Given the description of an element on the screen output the (x, y) to click on. 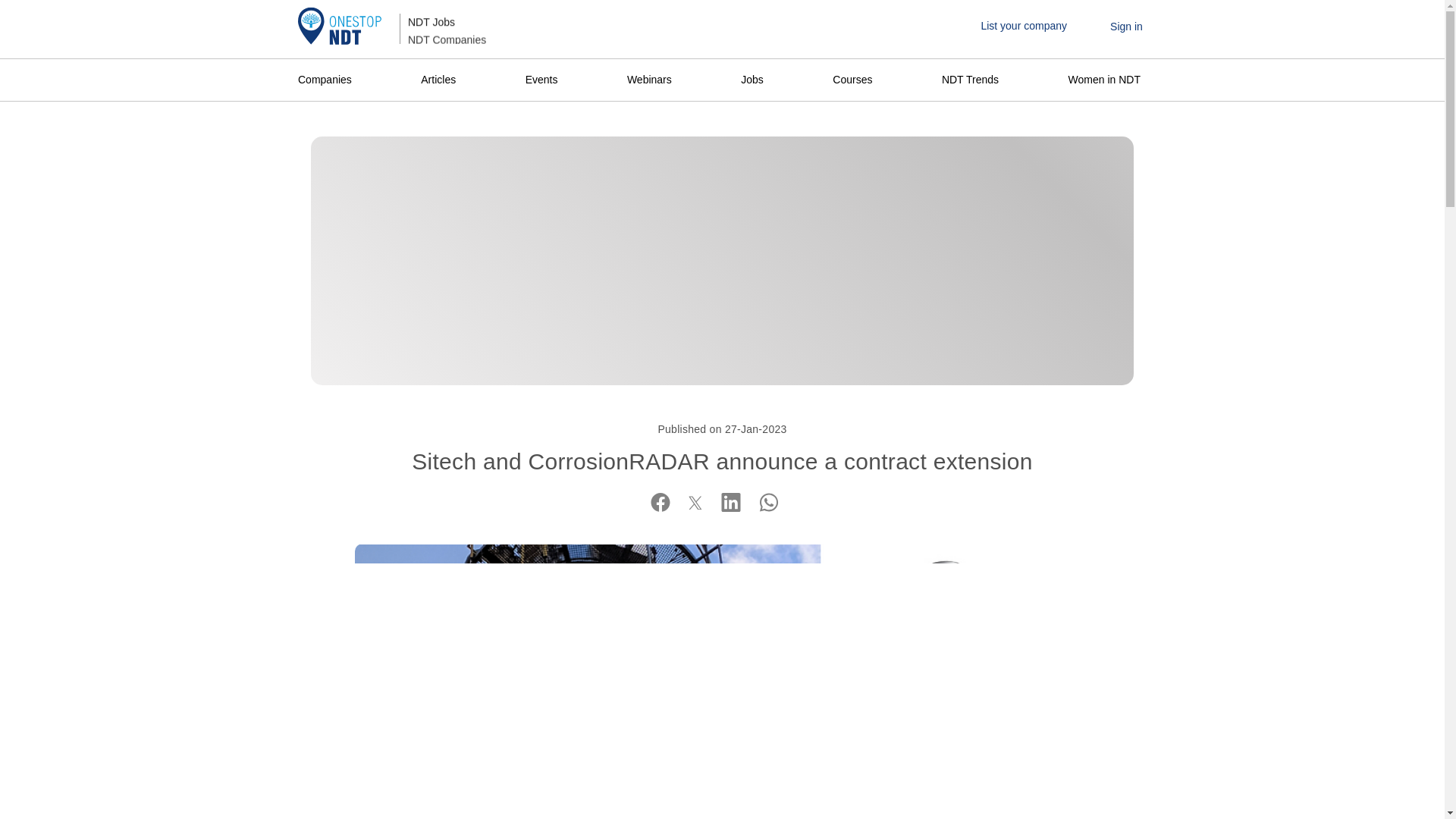
Jobs (752, 79)
Webinars (649, 79)
NDT Trends (970, 79)
Events (541, 79)
Courses (852, 79)
List your company (1023, 25)
Women in NDT (1104, 79)
Companies (328, 79)
Articles (437, 79)
